Given the description of an element on the screen output the (x, y) to click on. 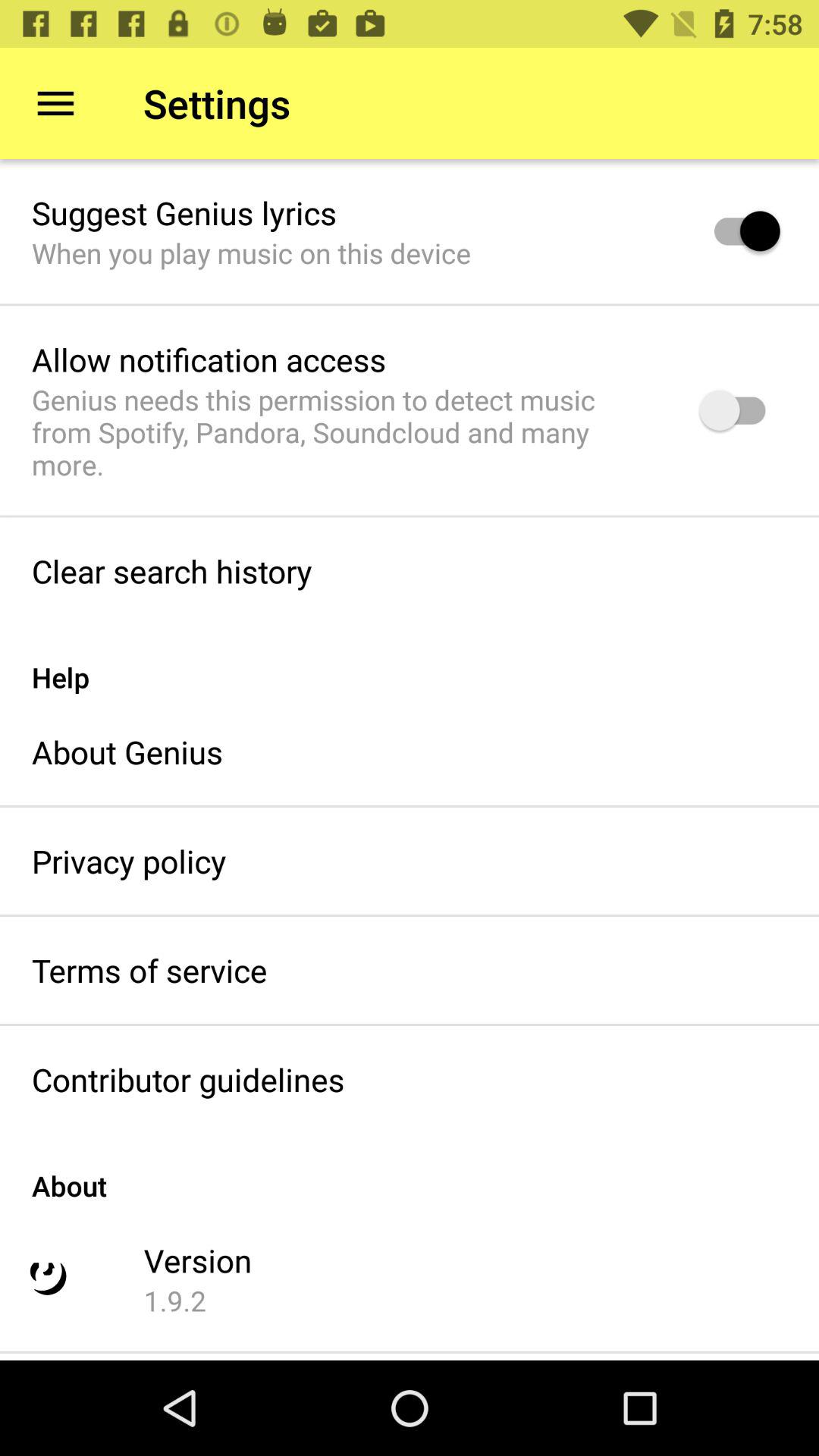
press the suggest genius lyrics (183, 212)
